Given the description of an element on the screen output the (x, y) to click on. 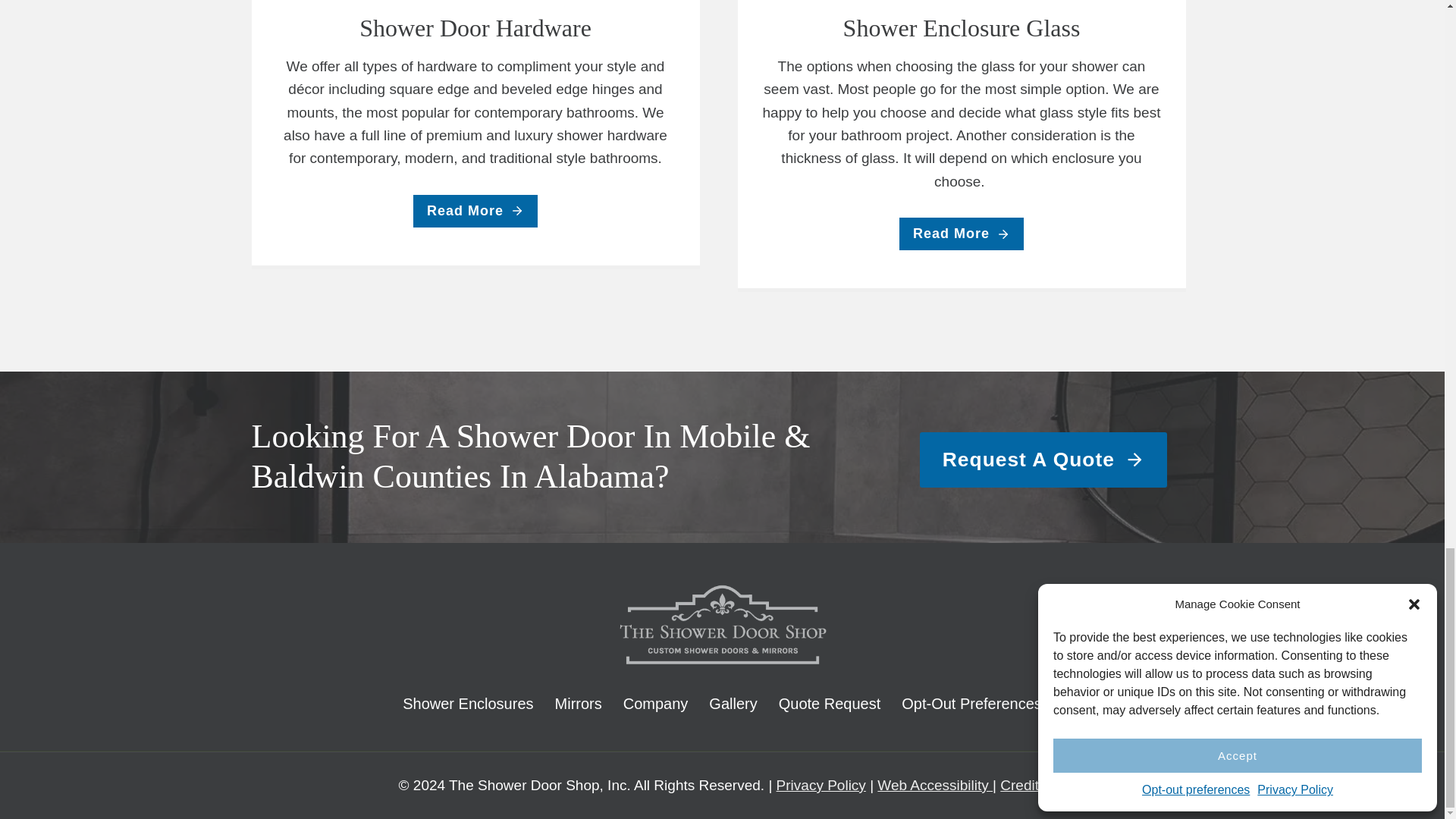
Read More (961, 233)
Shower Enclosures (467, 703)
Read More (475, 210)
Request A Quote (1043, 459)
Mirrors (578, 703)
